Given the description of an element on the screen output the (x, y) to click on. 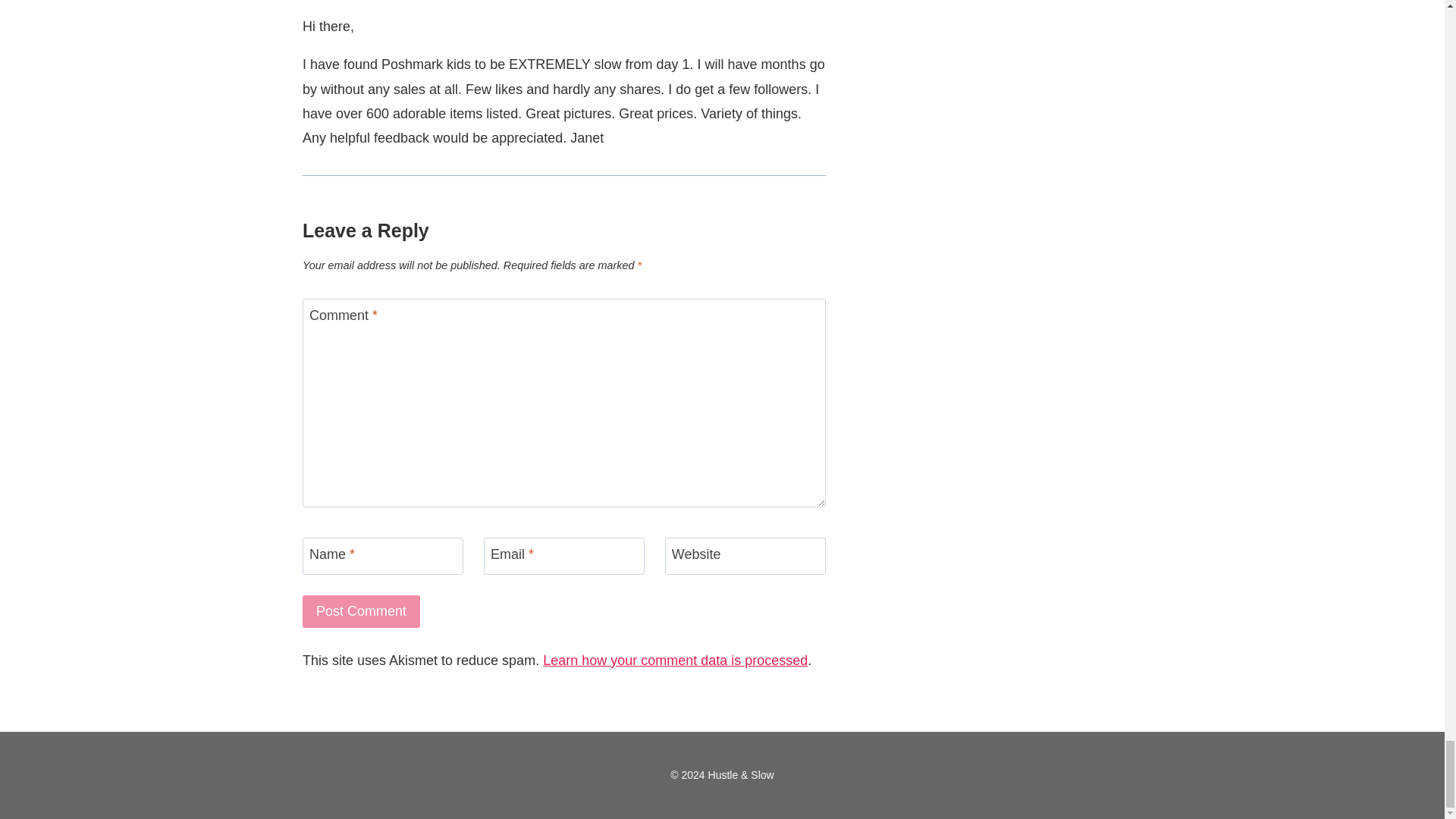
Post Comment (361, 611)
